Given the description of an element on the screen output the (x, y) to click on. 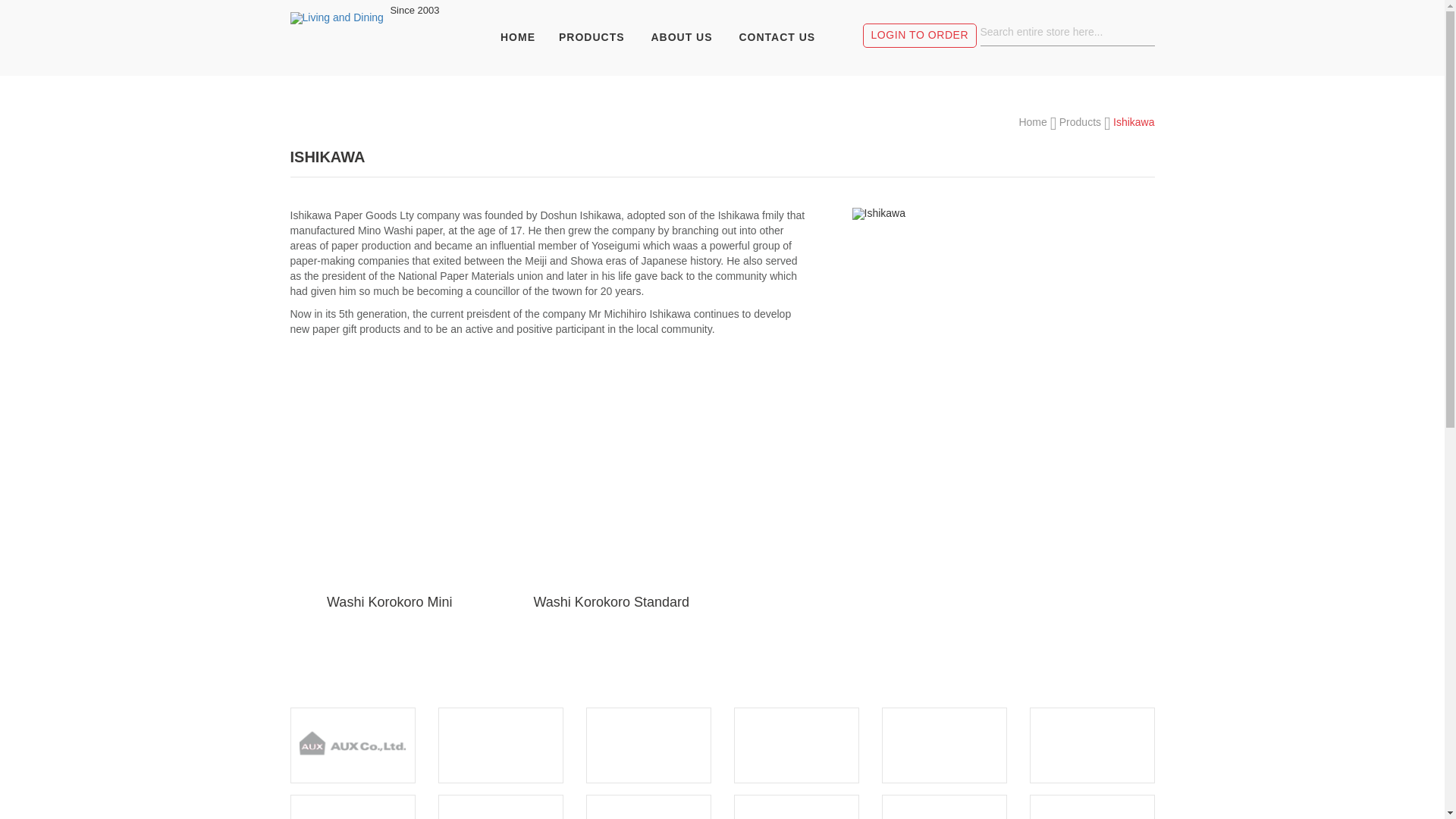
LOGIN TO ORDER Element type: text (919, 35)
Ishikawa Element type: hover (1003, 213)
PRODUCTS Element type: text (591, 36)
Living and Dining Element type: hover (337, 59)
Search Element type: text (1141, 31)
Products Element type: text (1081, 122)
HOME Element type: text (523, 36)
ABOUT US Element type: text (681, 36)
Washi Korokoro Standard Element type: text (611, 601)
Home Element type: text (1033, 122)
Washi Korokoro Mini Element type: text (388, 601)
CONTACT US Element type: text (776, 36)
